Given the description of an element on the screen output the (x, y) to click on. 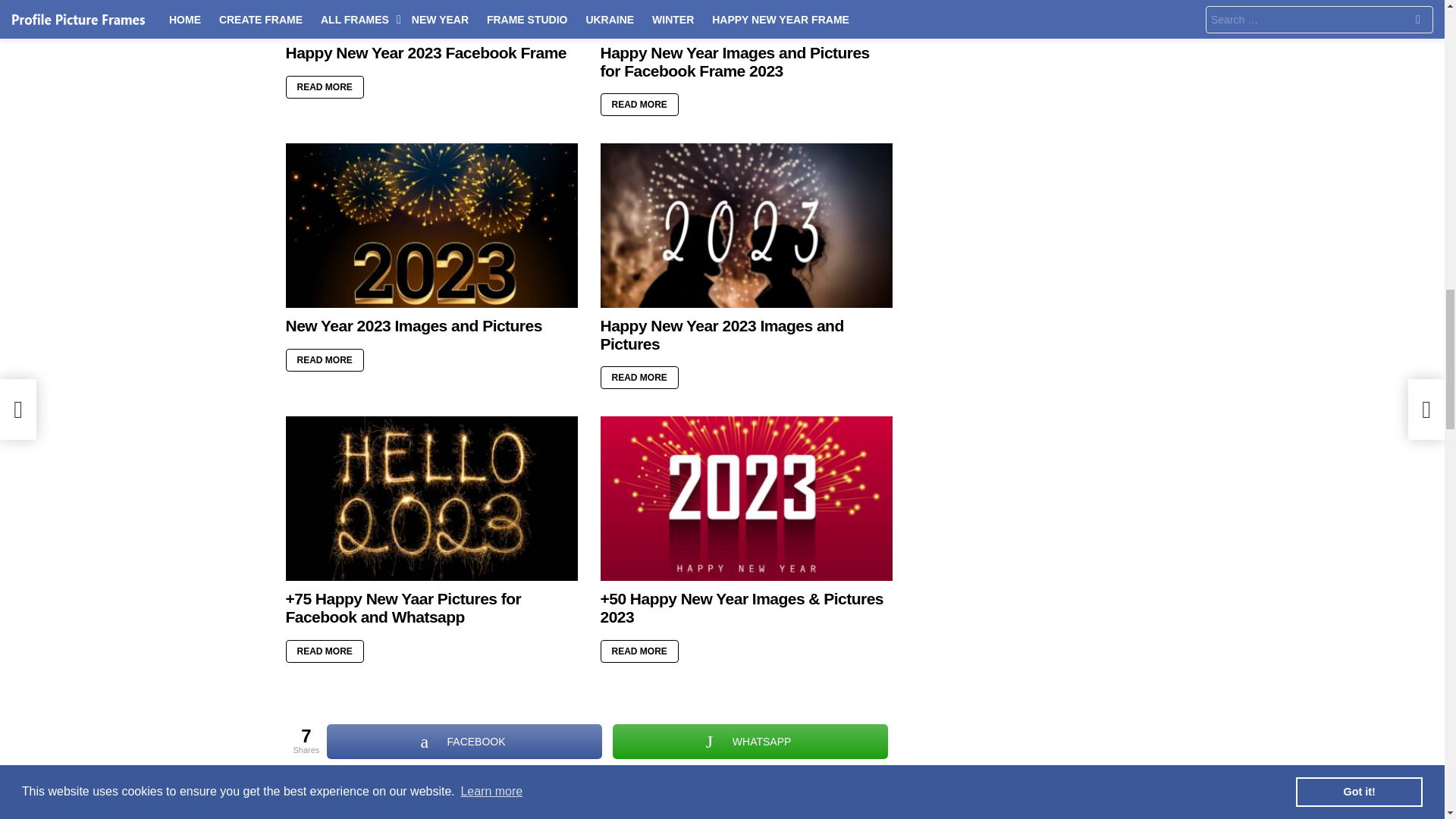
Happy New Year 2023 Facebook Frame (430, 17)
Happy New Year Images and Pictures for Facebook Frame 2023 (745, 17)
New Year 2023 Images and Pictures (430, 225)
